Given the description of an element on the screen output the (x, y) to click on. 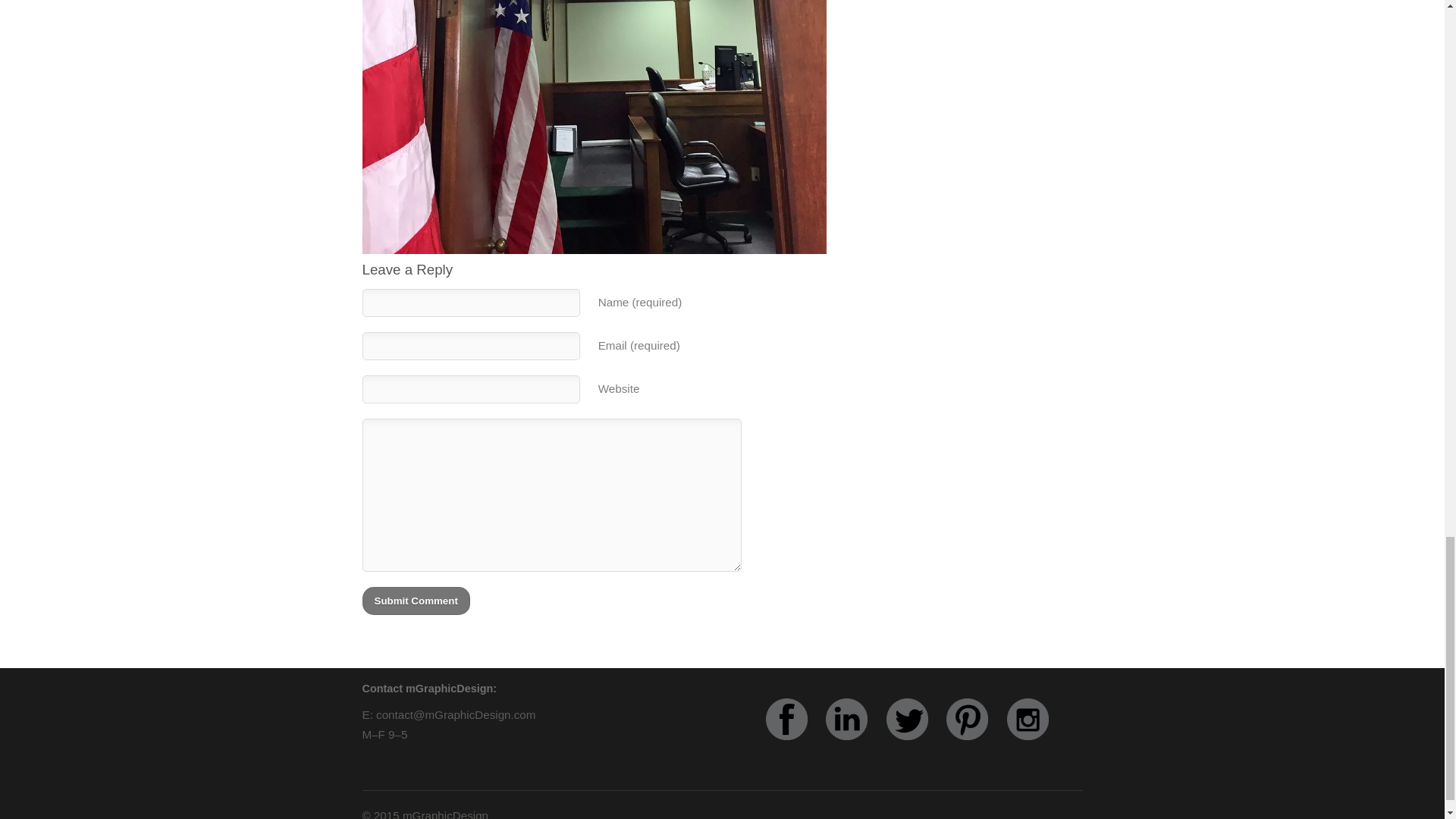
Pinterest (974, 735)
Facebook (793, 735)
Submit Comment (416, 601)
Instagram (1035, 735)
Twitter (914, 735)
Submit Comment (416, 601)
LinkedIn (853, 735)
